Given the description of an element on the screen output the (x, y) to click on. 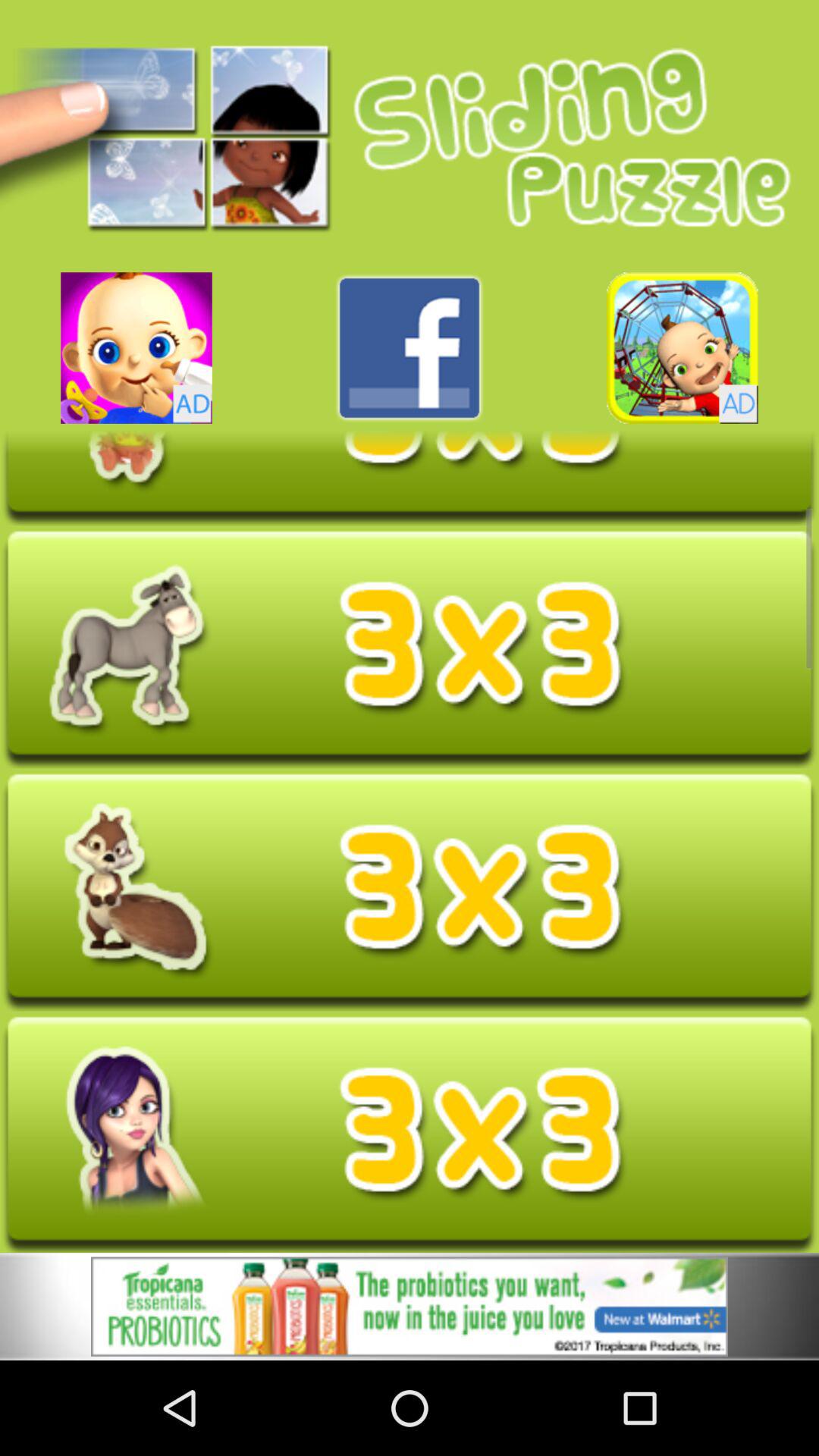
advertisement website (409, 1309)
